Given the description of an element on the screen output the (x, y) to click on. 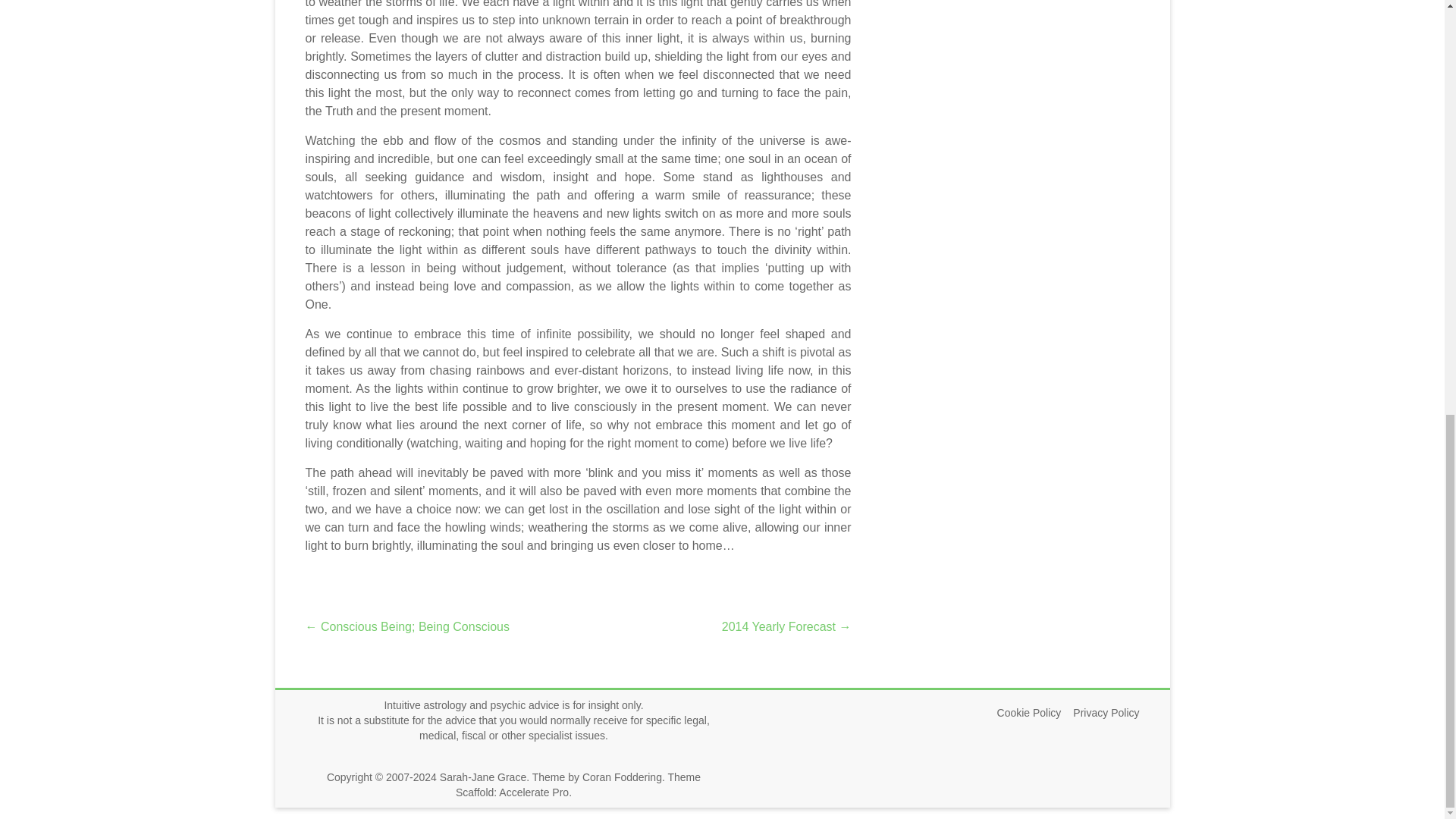
Accelerate Pro (534, 792)
Sarah-Jane Grace (482, 776)
Cookie Policy (1023, 713)
Sarah-Jane Grace (482, 776)
Accelerate Pro (534, 792)
Coran Foddering (622, 776)
Privacy Policy (1099, 713)
Coran Foddering (622, 776)
